Given the description of an element on the screen output the (x, y) to click on. 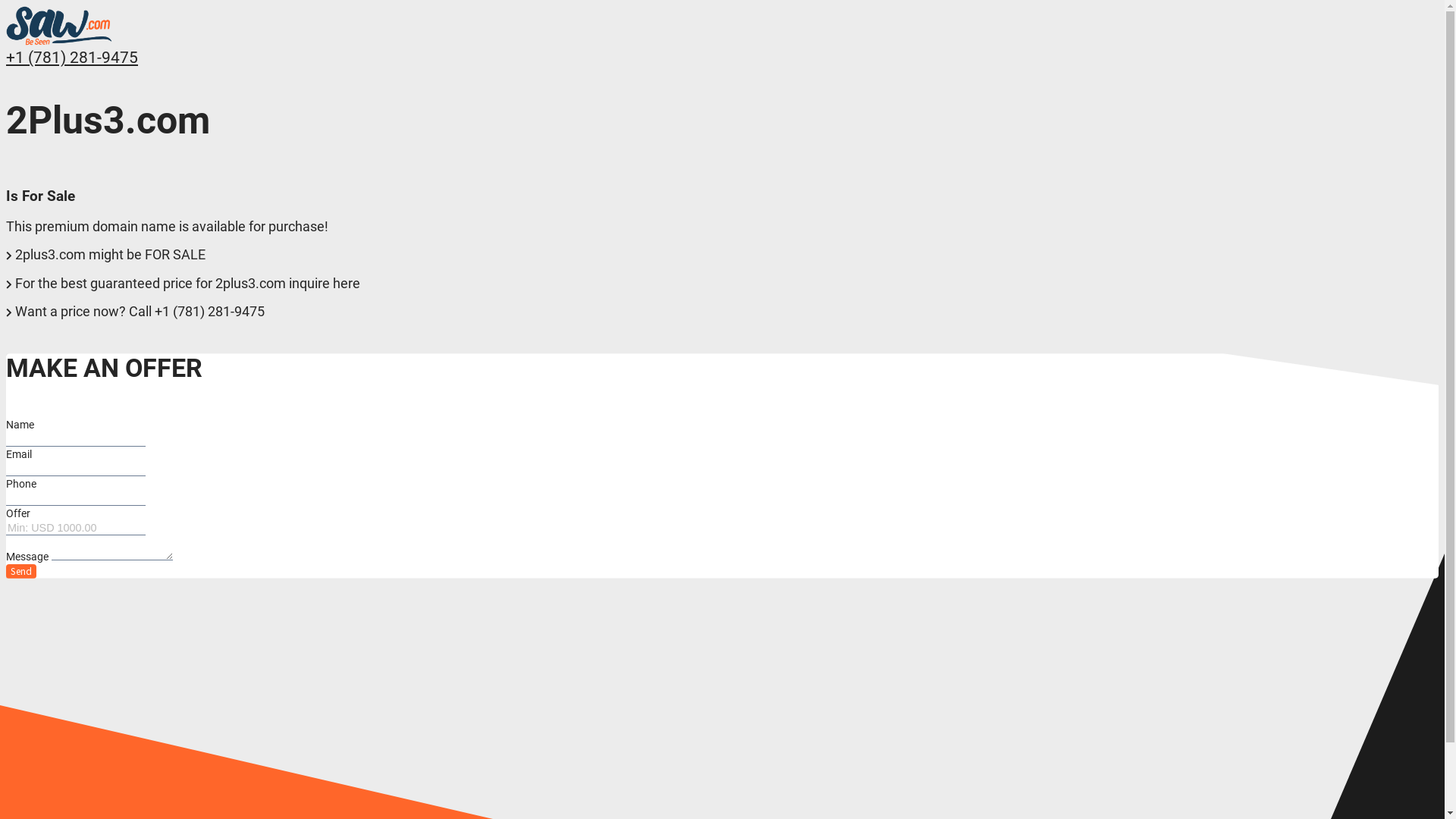
+1 (781) 281-9475 Element type: text (72, 57)
Send Element type: text (21, 571)
